Given the description of an element on the screen output the (x, y) to click on. 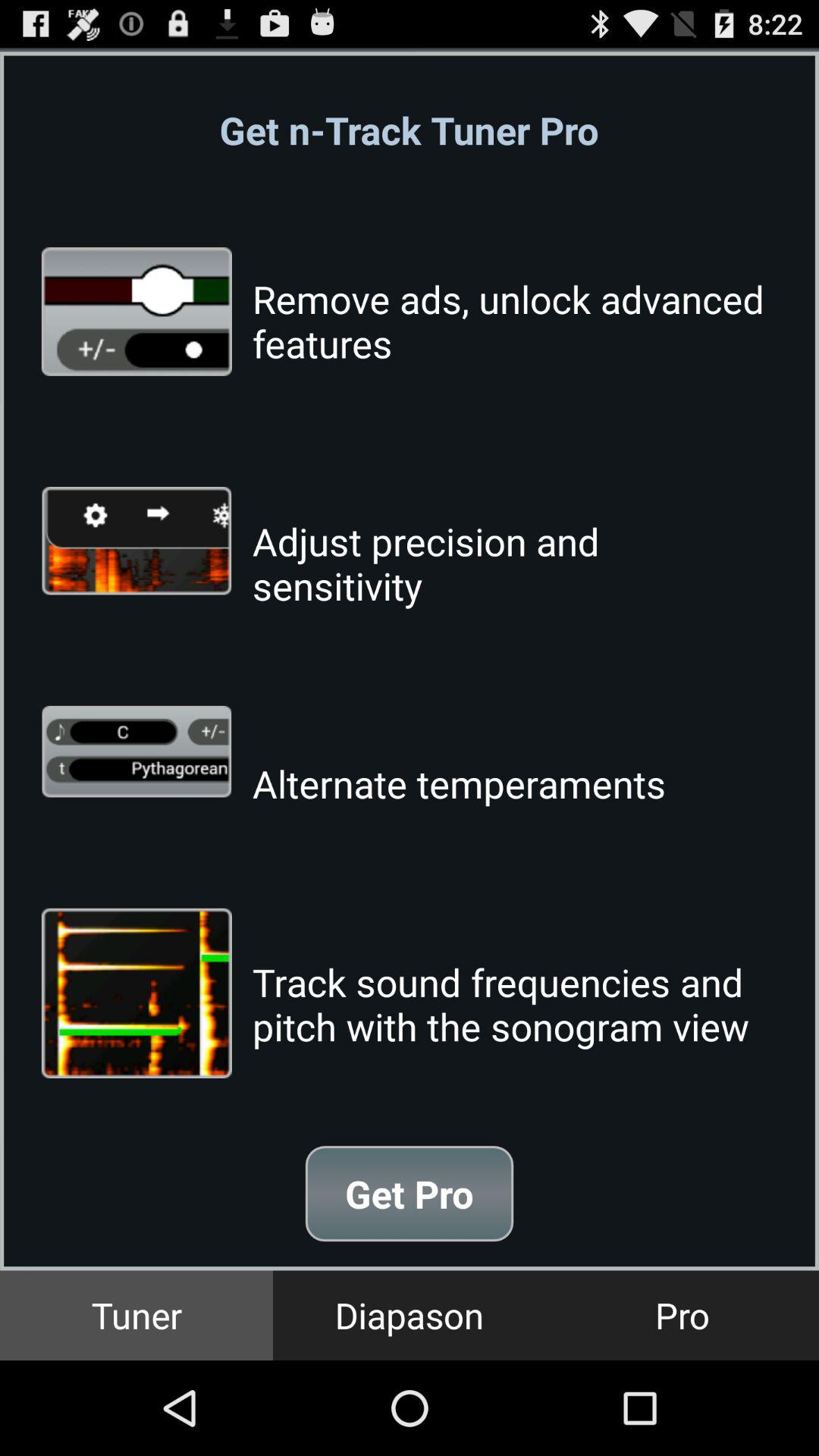
tap the button to the left of pro button (409, 1315)
